Given the description of an element on the screen output the (x, y) to click on. 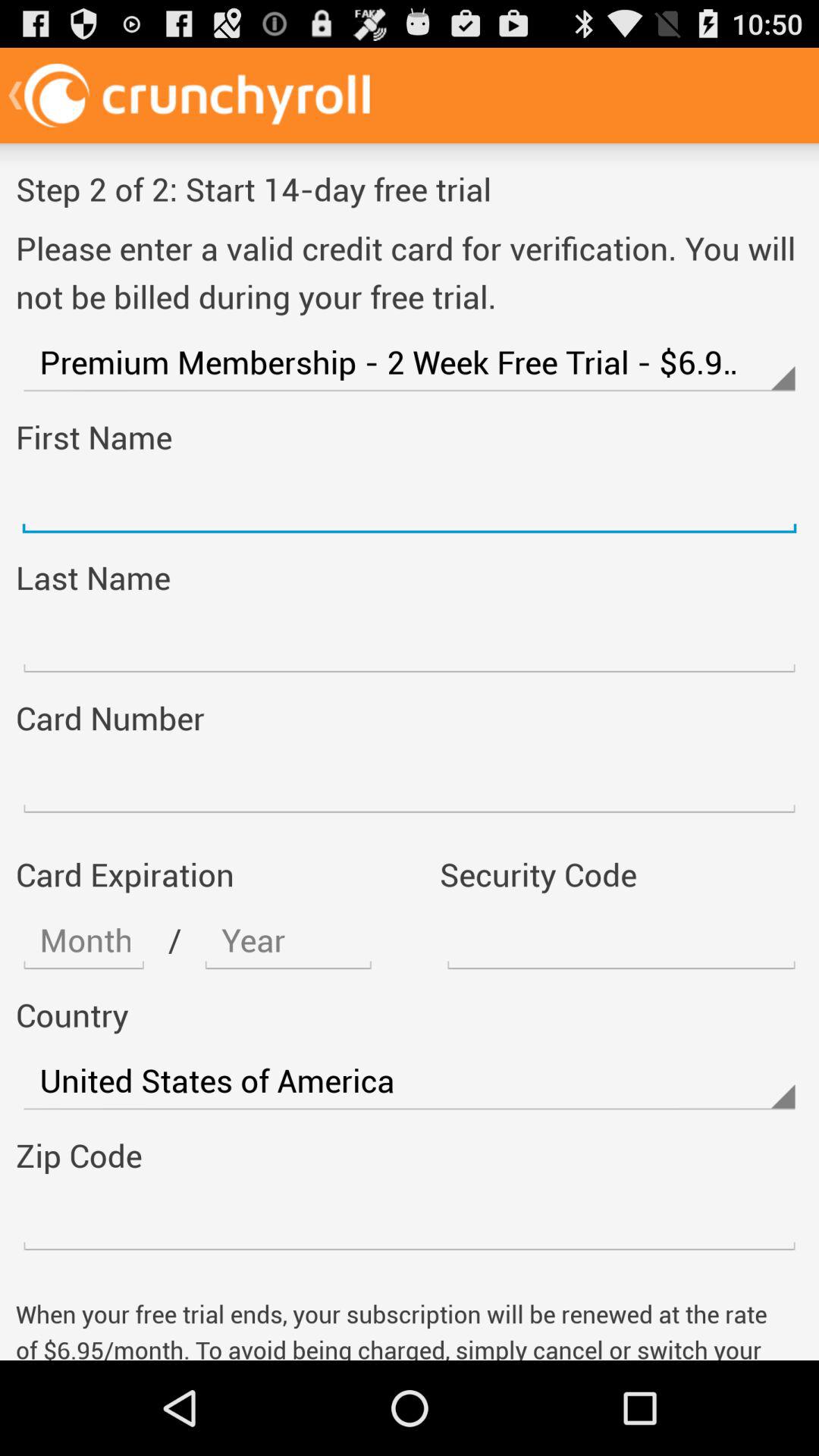
text option (288, 940)
